Given the description of an element on the screen output the (x, y) to click on. 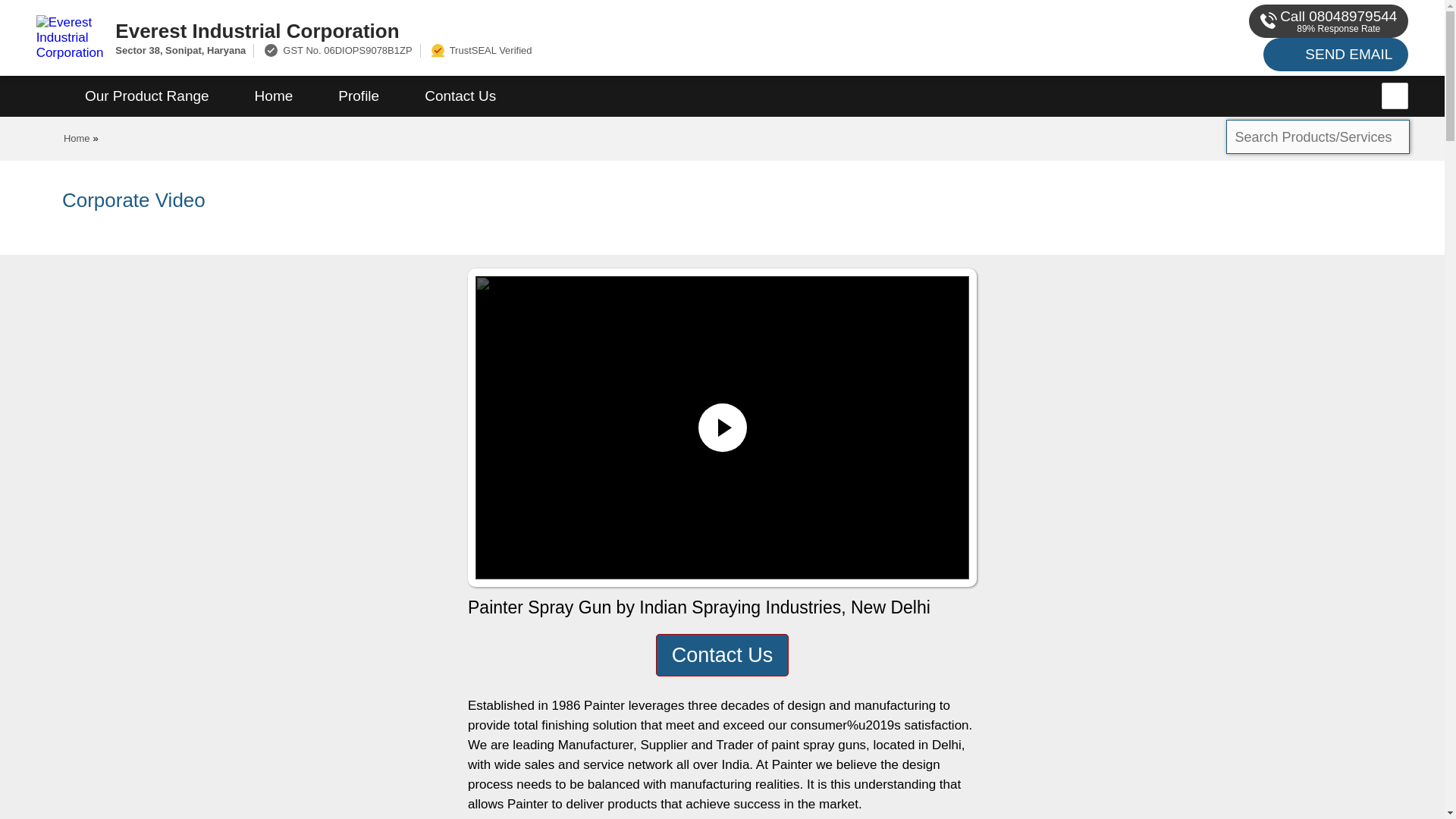
Profile (358, 96)
Everest Industrial Corporation (552, 31)
Our Product Range (146, 96)
Home (273, 96)
